Given the description of an element on the screen output the (x, y) to click on. 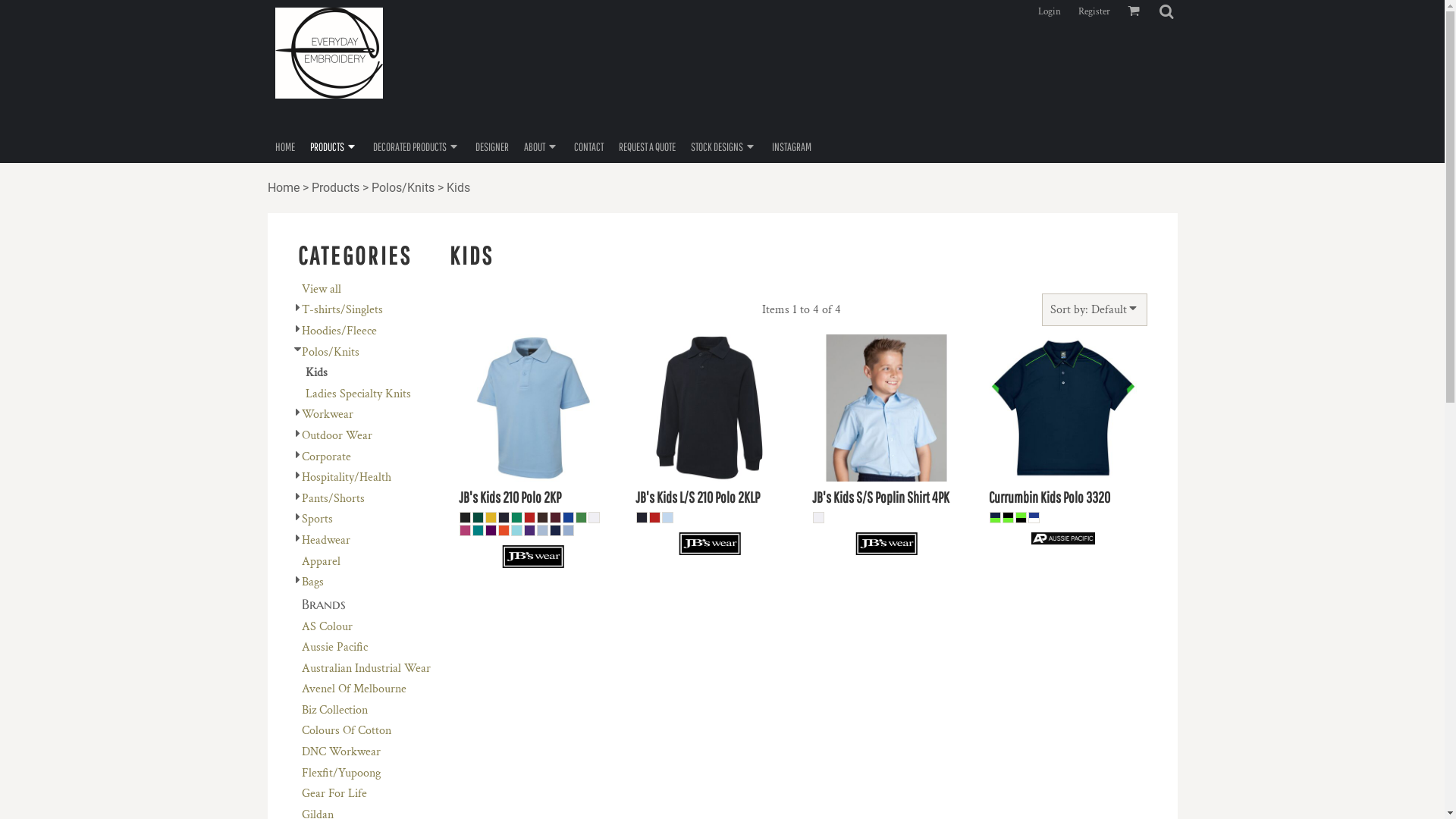
Pants/Shorts Element type: text (332, 498)
JB's Kids S/S Poplin Shirt 4PK Element type: text (880, 496)
CONTACT Element type: text (587, 145)
Polos/Knits Element type: text (330, 352)
Sports Element type: text (316, 519)
DNC Workwear Element type: text (340, 751)
PRODUCTS Element type: text (333, 145)
Home Element type: text (282, 187)
REQUEST A QUOTE Element type: text (646, 145)
Polos/Knits Element type: text (402, 187)
Headwear Element type: text (325, 540)
JB's Kids 210 Polo 2KP Element type: text (509, 496)
AS Colour Element type: text (326, 626)
Flexfit/Yupoong Element type: text (340, 773)
Corporate Element type: text (326, 456)
Gear For Life Element type: text (334, 793)
Register Element type: text (1094, 10)
Avenel Of Melbourne Element type: text (353, 688)
JB's wear JB's Kids 210 Polo 2KP Element type: hover (532, 407)
T-shirts/Singlets Element type: text (341, 309)
Currumbin Kids Polo 3320 Element type: text (1049, 496)
STOCK DESIGNS Element type: text (723, 145)
Biz Collection Element type: text (334, 710)
Login Element type: text (1048, 10)
JB's wear JB's  Kids S/S Poplin Shirt 4PK Element type: hover (886, 407)
Hoodies/Fleece Element type: text (338, 330)
Ladies Specialty Knits Element type: text (357, 393)
Apparel Element type: text (320, 561)
Bags Element type: text (312, 581)
Workwear Element type: text (327, 414)
DECORATED PRODUCTS Element type: text (416, 145)
Colours Of Cotton Element type: text (346, 730)
DESIGNER Element type: text (491, 145)
Australian Industrial Wear Element type: text (365, 668)
JB's Kids L/S 210 Polo 2KLP Element type: text (697, 496)
INSTAGRAM Element type: text (791, 145)
HOME Element type: text (284, 145)
Products Element type: text (334, 187)
Aussie Pacific Currumbin Kids Polo 3320 Element type: hover (1062, 407)
JB's wear JB's  Kids L/S 210 Polo 2KLP Element type: hover (709, 407)
Outdoor Wear Element type: text (336, 435)
ABOUT Element type: text (540, 145)
Hospitality/Health Element type: text (346, 477)
View all Element type: text (321, 289)
Aussie Pacific Element type: text (334, 647)
